Given the description of an element on the screen output the (x, y) to click on. 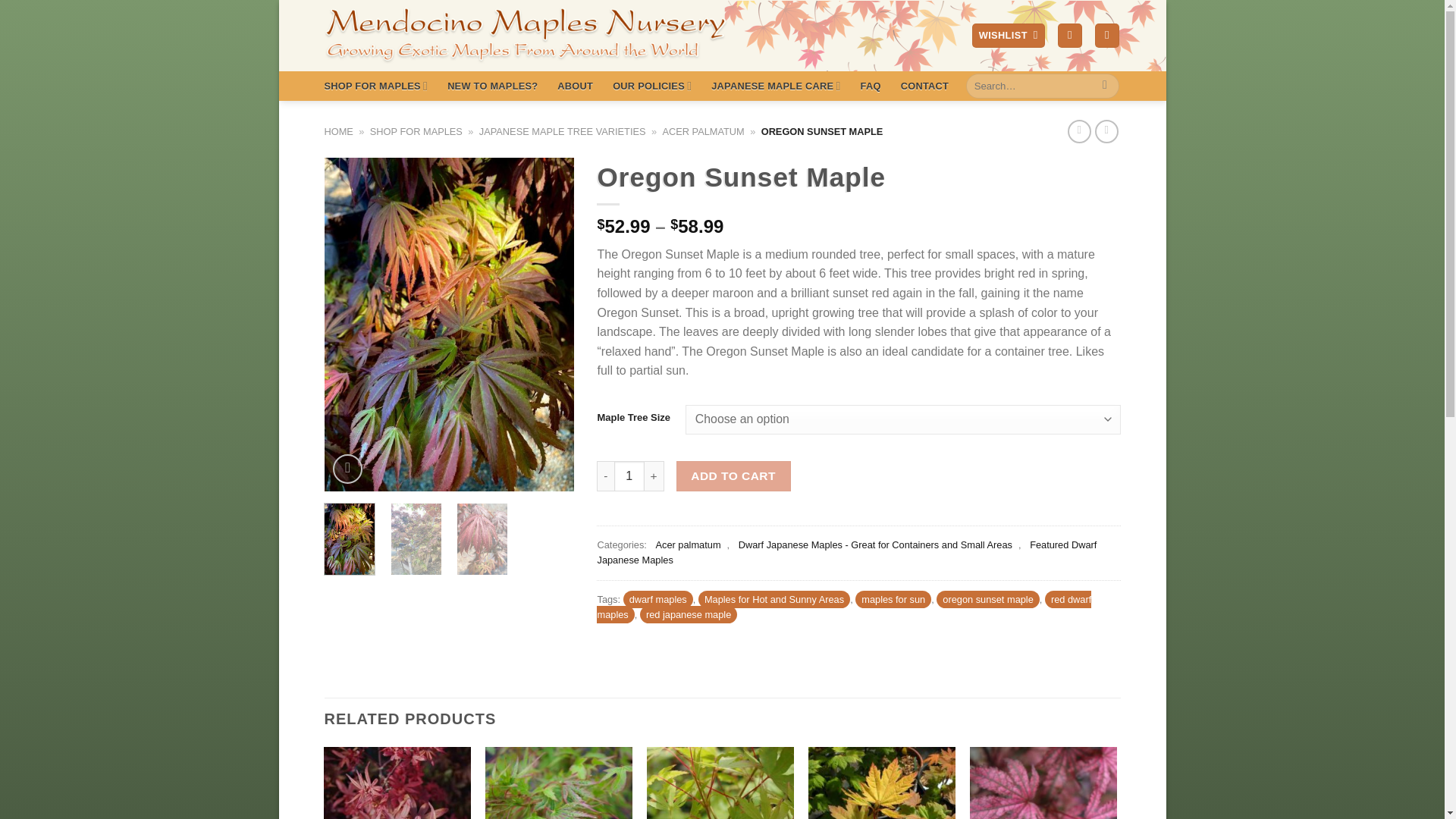
SHOP FOR MAPLES (376, 85)
Zoom (347, 469)
JAPANESE MAPLE CARE (775, 85)
NEW TO MAPLES? (491, 85)
OUR POLICIES (651, 85)
ABOUT (574, 85)
1 (629, 476)
